Given the description of an element on the screen output the (x, y) to click on. 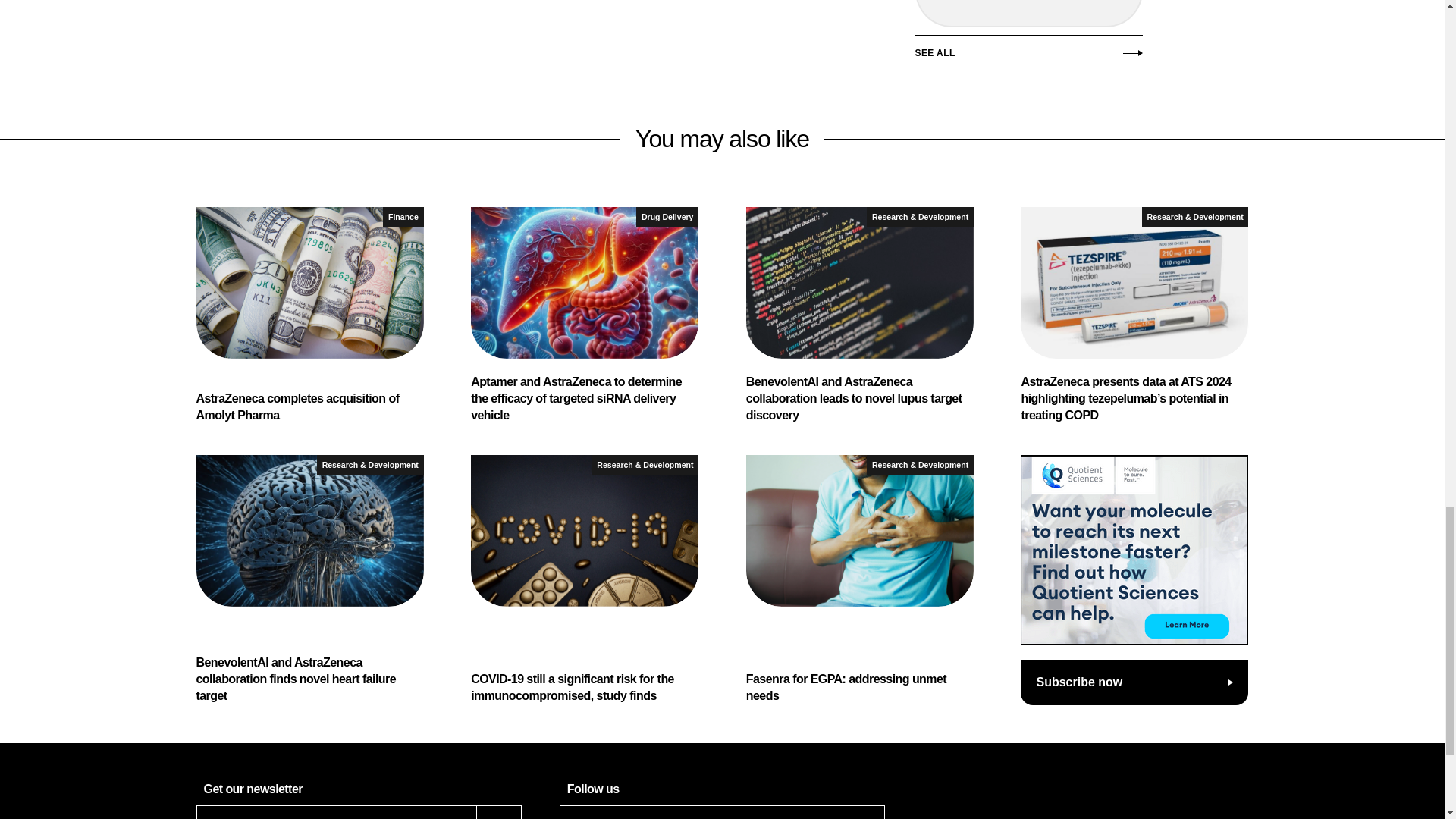
SEE ALL (1027, 56)
AstraZeneca completes acquisition of Amolyt Pharma (309, 316)
Finance (402, 217)
Drug Delivery (667, 217)
